Given the description of an element on the screen output the (x, y) to click on. 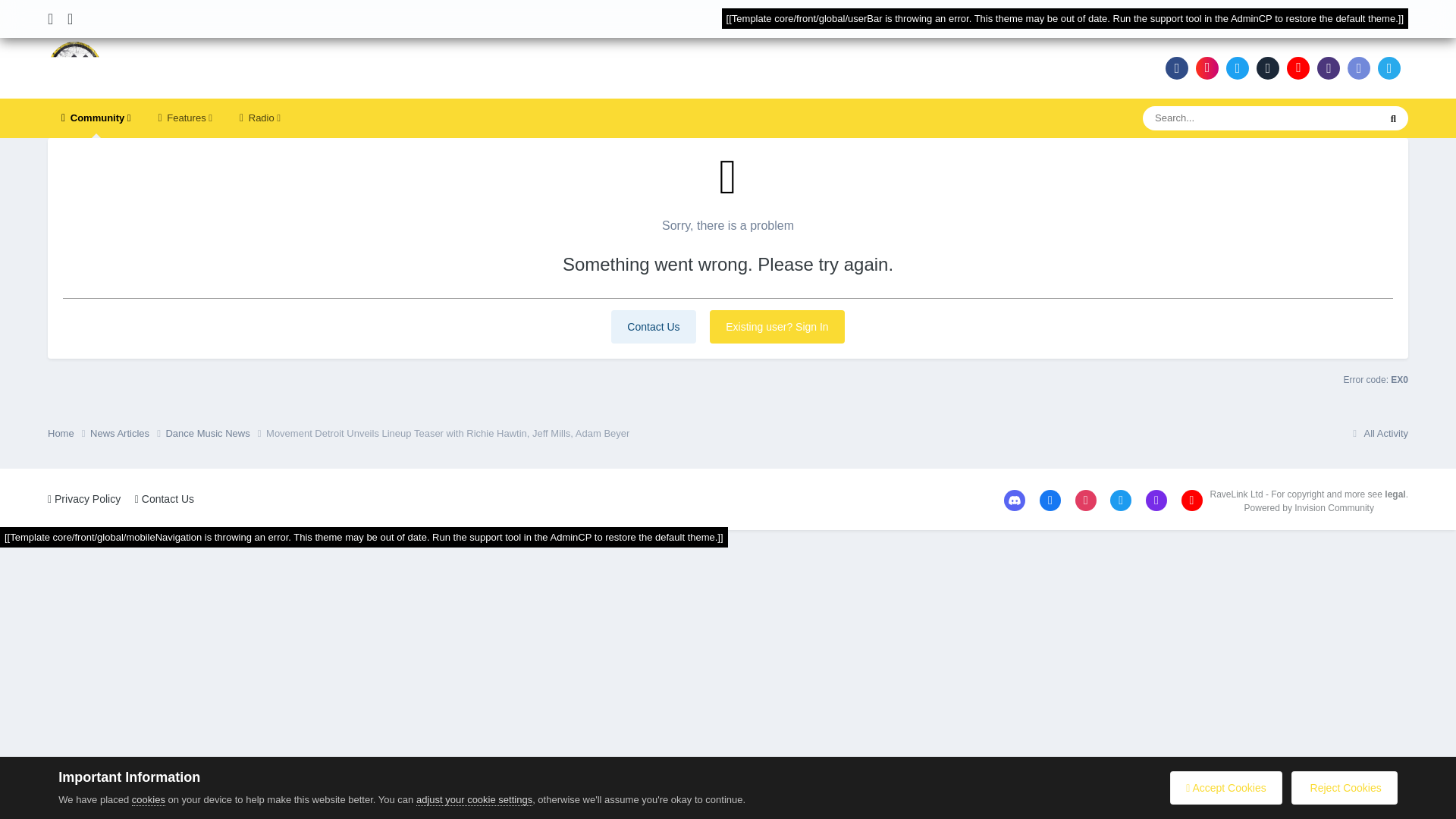
Radio (259, 118)
Invision Community (1309, 507)
Existing user? Sign In (777, 326)
Features (184, 118)
Contact Us (653, 326)
Existing user? Sign In (777, 326)
Community (96, 118)
Contact Us (653, 326)
Home (69, 433)
